Given the description of an element on the screen output the (x, y) to click on. 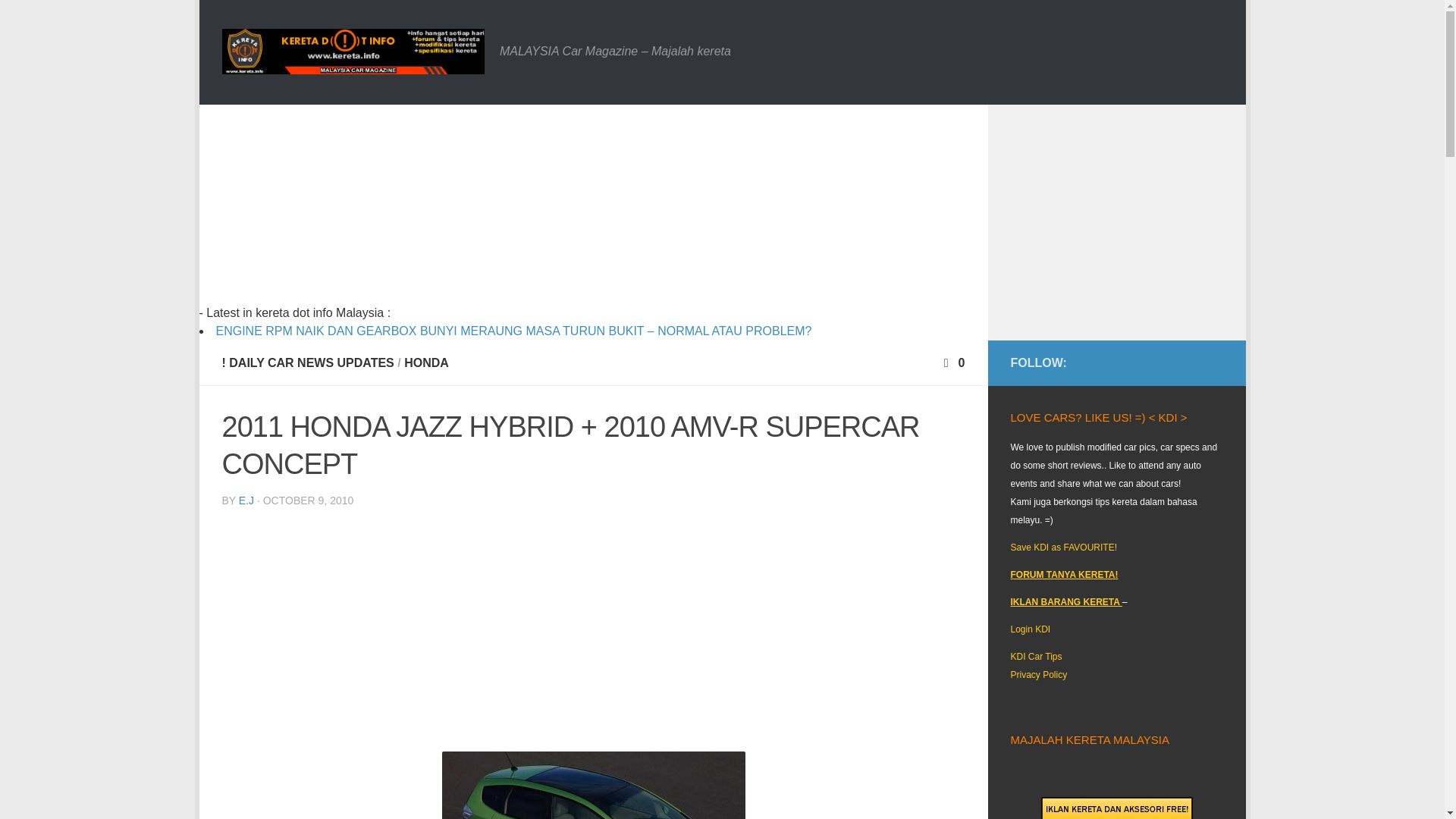
Posts by E.J (245, 500)
Advertisement (521, 210)
2011-Honda-Fit-Hybrid-Front-Side-Top-View (592, 785)
E.J (245, 500)
Advertisement (592, 626)
HONDA (426, 362)
0 (952, 362)
! DAILY CAR NEWS UPDATES (307, 362)
